Given the description of an element on the screen output the (x, y) to click on. 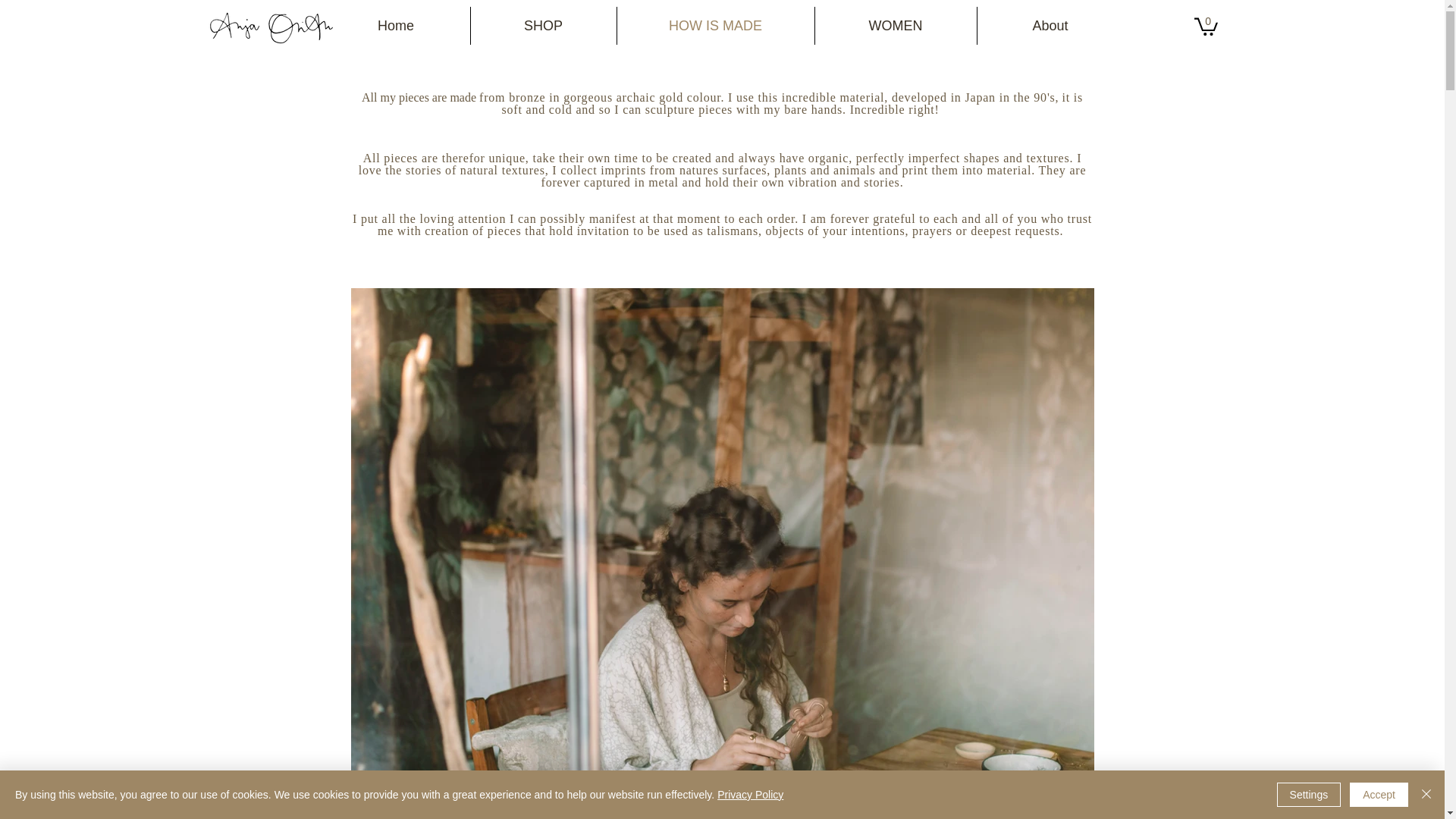
HOW IS MADE (714, 25)
About (1050, 25)
WOMEN (894, 25)
Settings (1308, 794)
Home (394, 25)
0 (1205, 25)
Privacy Policy (750, 794)
Accept (1378, 794)
0 (1205, 25)
SHOP (542, 25)
